Given the description of an element on the screen output the (x, y) to click on. 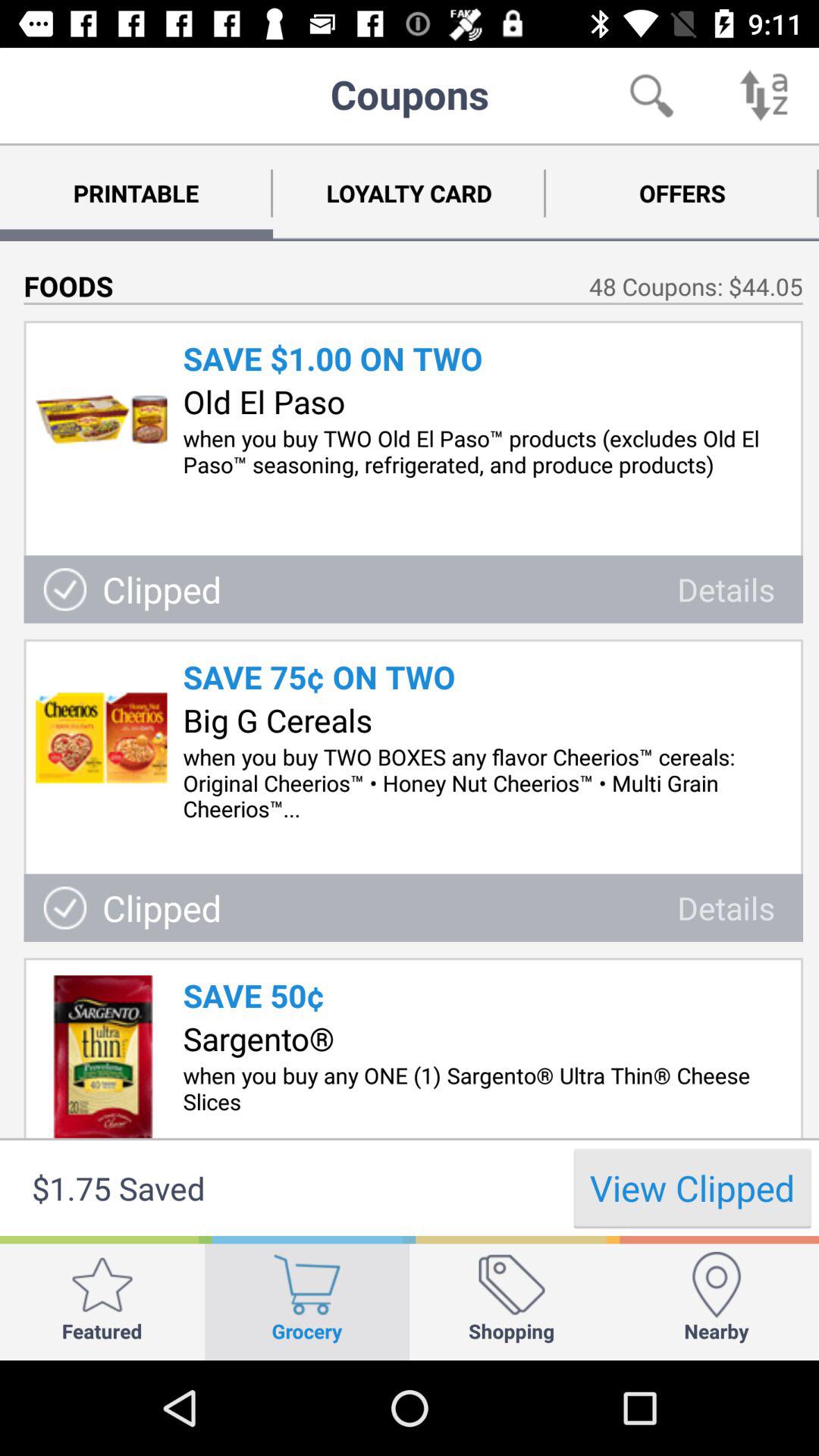
launch item next to $1.75 saved app (692, 1187)
